Given the description of an element on the screen output the (x, y) to click on. 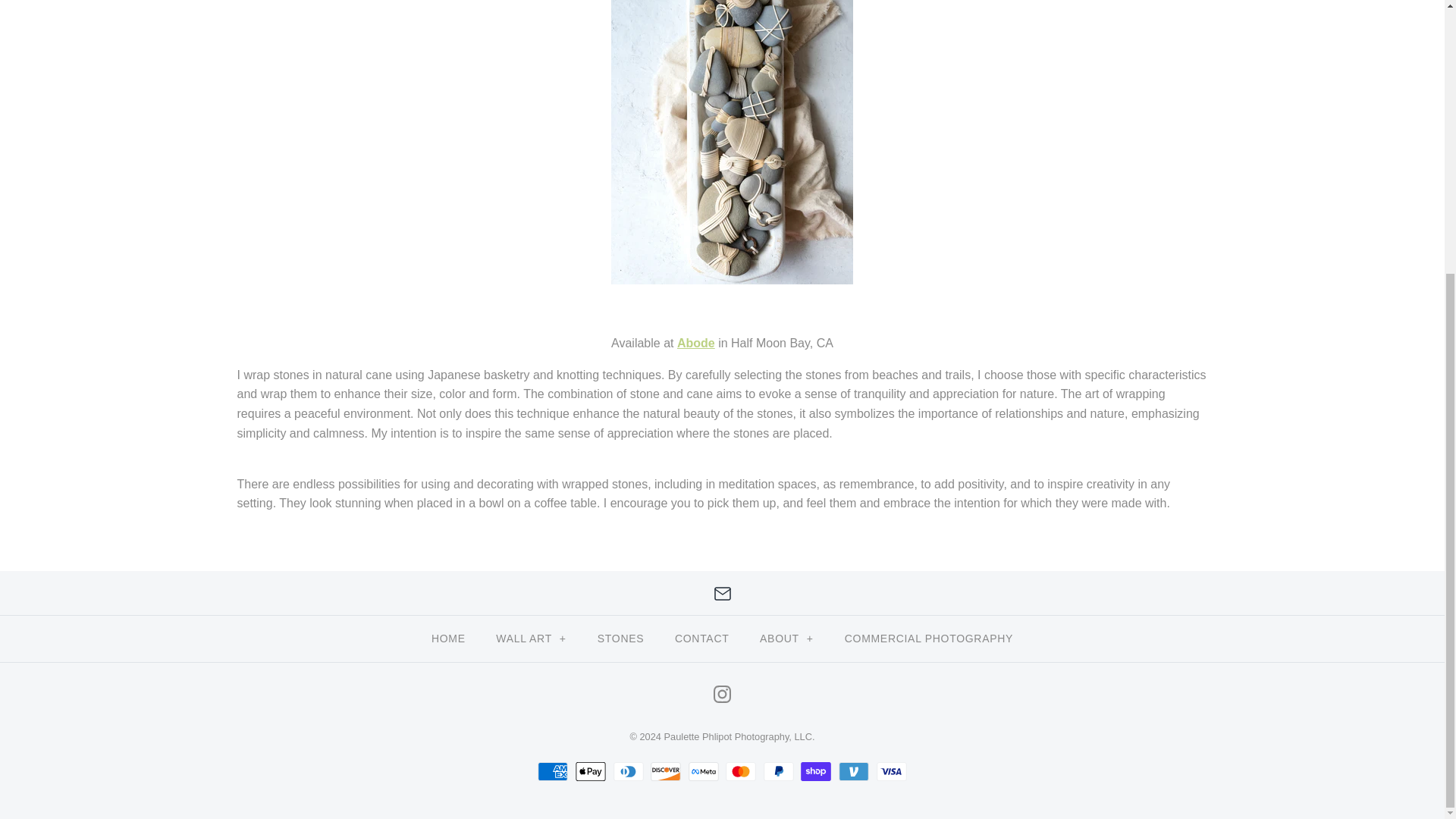
Diners Club (627, 771)
Visa (891, 771)
COMMERCIAL PHOTOGRAPHY (928, 638)
HOME (448, 638)
Abode (695, 342)
Instagram (721, 693)
Paulette Phlipot Photography, LLC (737, 736)
Venmo (853, 771)
PayPal (777, 771)
Mastercard (740, 771)
